Given the description of an element on the screen output the (x, y) to click on. 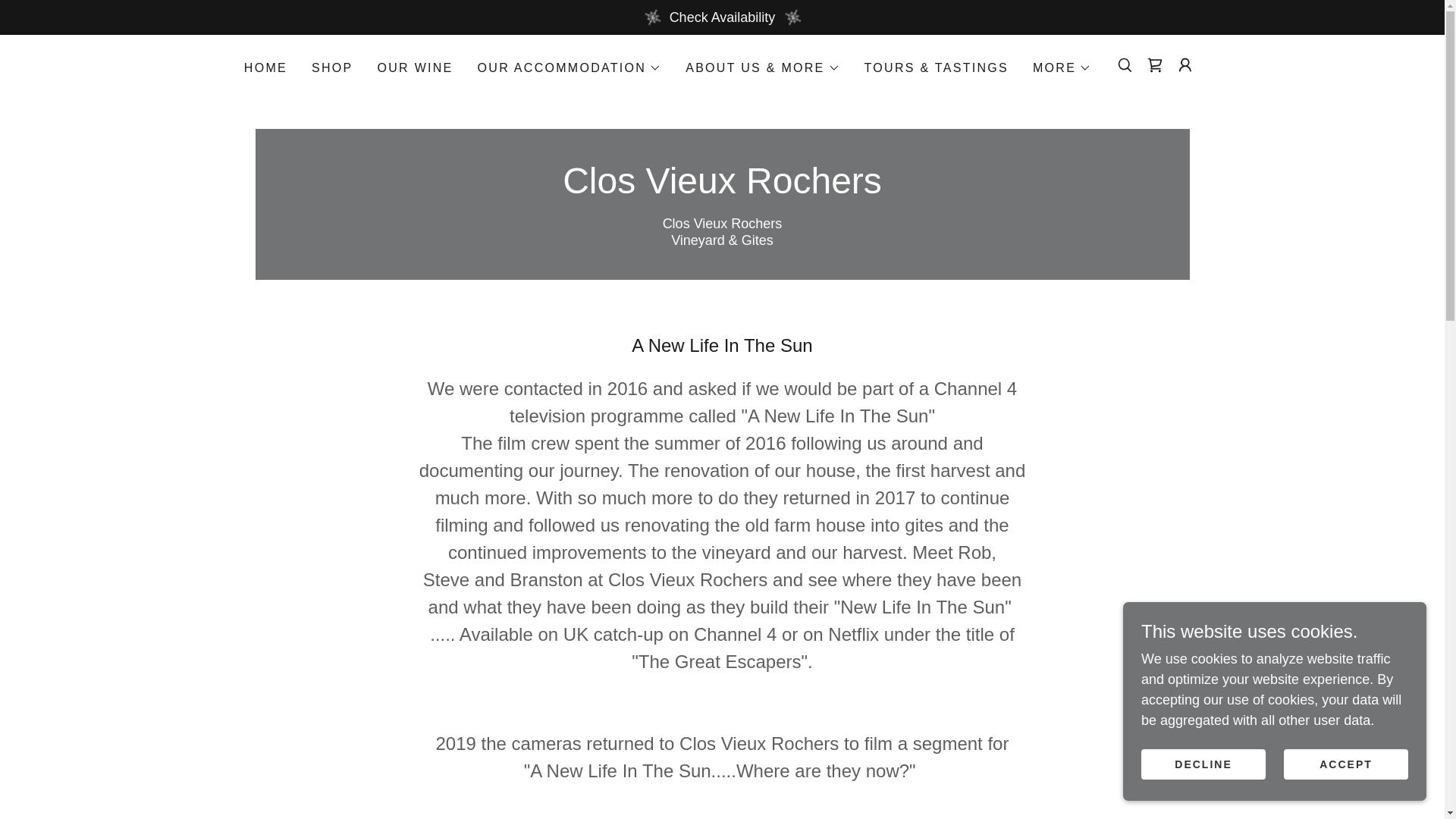
OUR WINE (415, 67)
MORE (1061, 67)
Clos Vieux Rochers (722, 188)
SHOP (332, 67)
HOME (266, 67)
OUR ACCOMMODATION (569, 67)
